Given the description of an element on the screen output the (x, y) to click on. 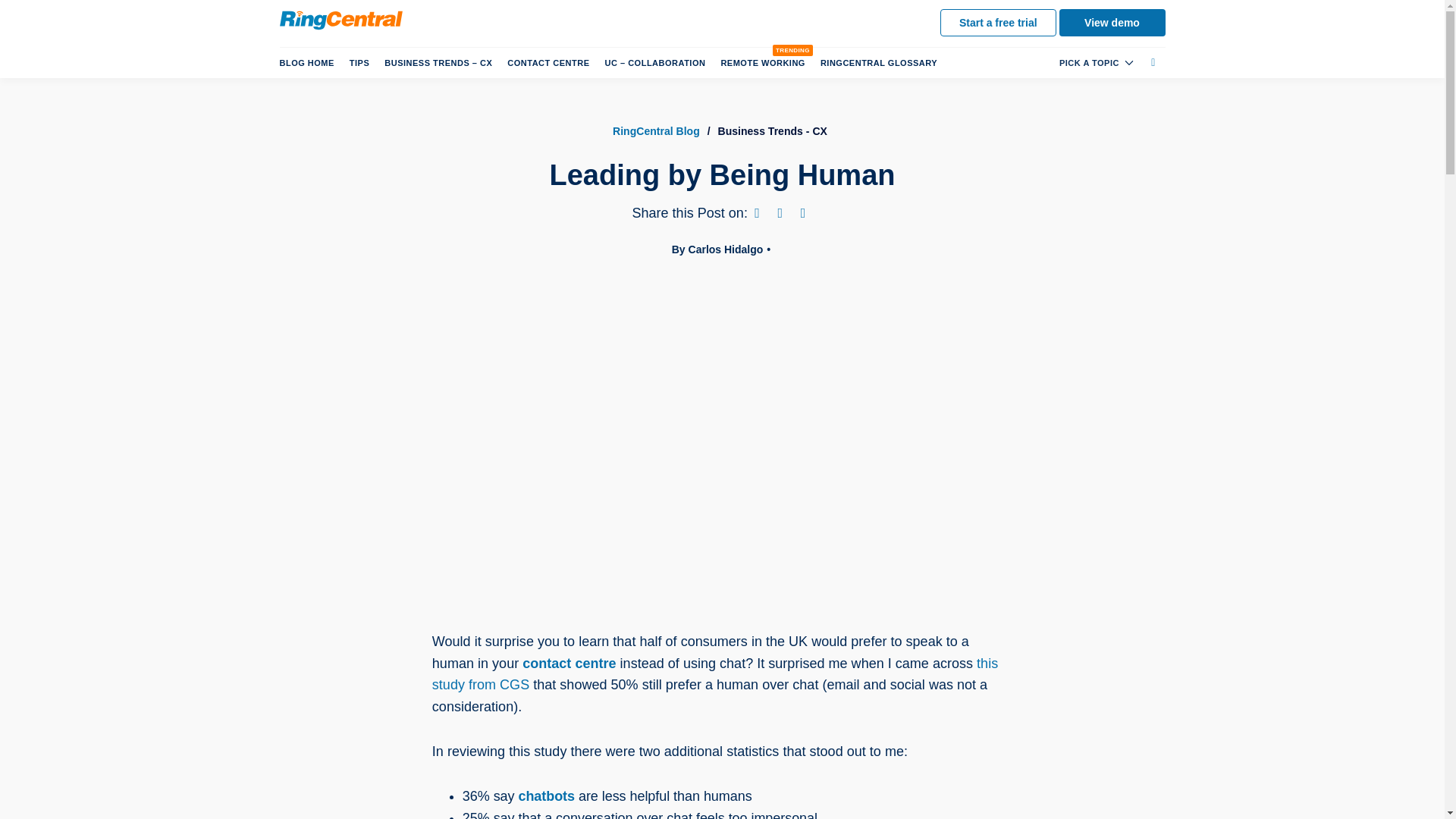
Free Trial (998, 22)
Contact Centre (547, 62)
RingCentral Blog (656, 131)
CONTACT CENTRE (547, 62)
BLOG HOME (309, 62)
Blog Homepage (309, 62)
View demo (1111, 22)
REMOTE WORKING (762, 62)
View Demo (1111, 22)
